Given the description of an element on the screen output the (x, y) to click on. 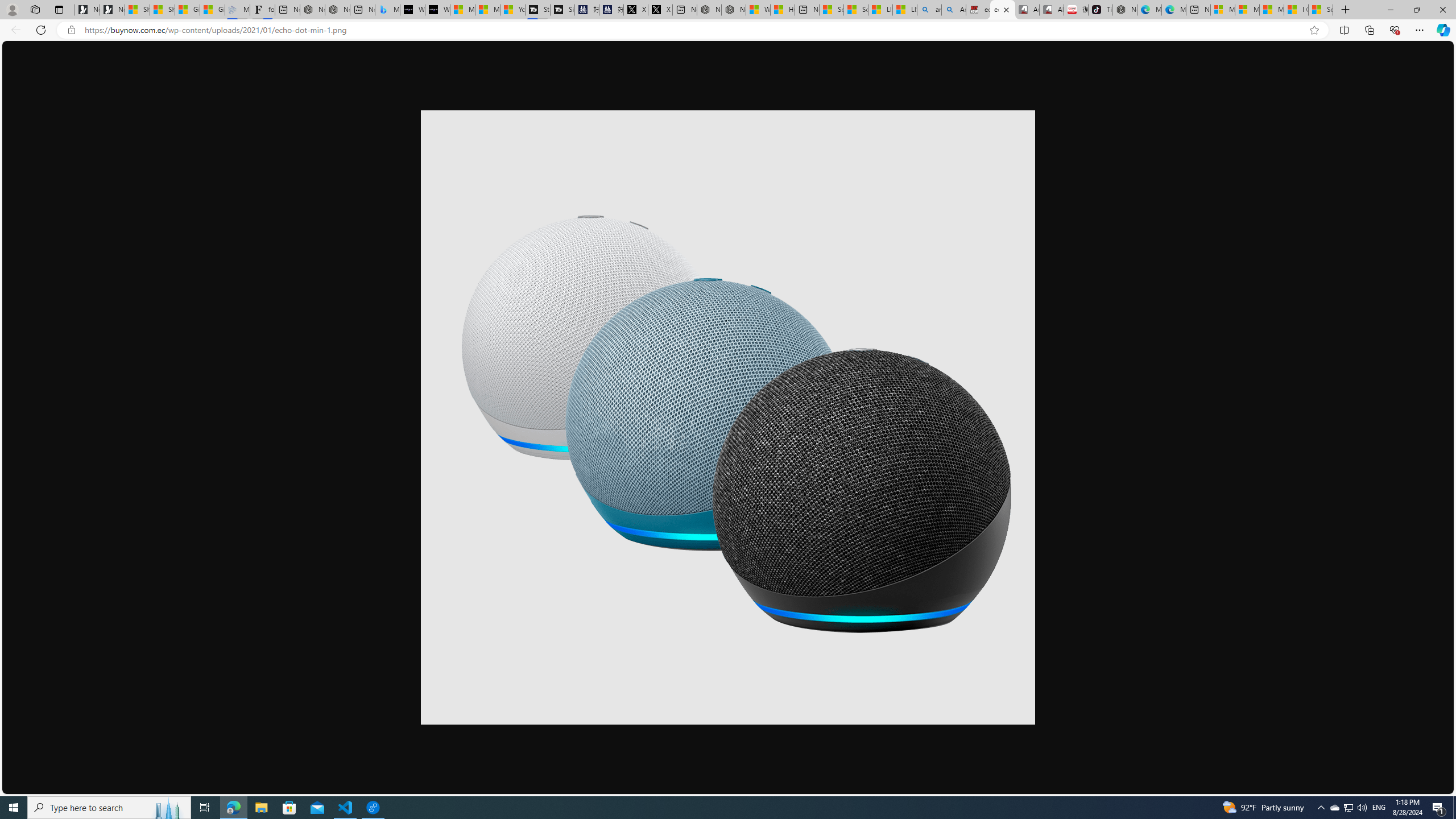
All Cubot phones (1051, 9)
